Given the description of an element on the screen output the (x, y) to click on. 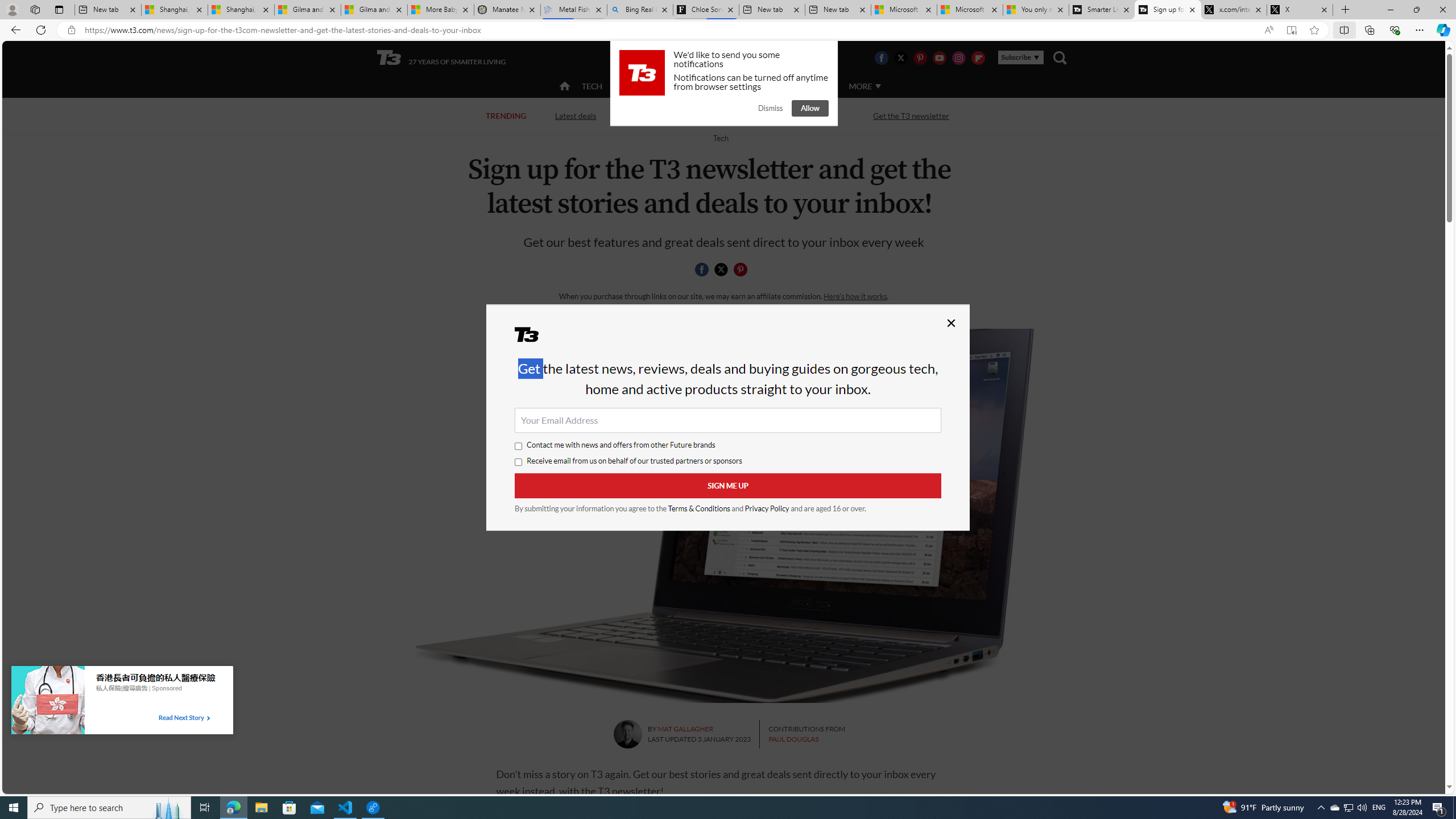
Streaming TV and movies (788, 115)
Get the T3 newsletter (911, 115)
ACTIVE (638, 85)
HOME LIVING (701, 85)
Your Email Address (727, 420)
Class: navigation__search (1059, 57)
Tech (720, 137)
